Given the description of an element on the screen output the (x, y) to click on. 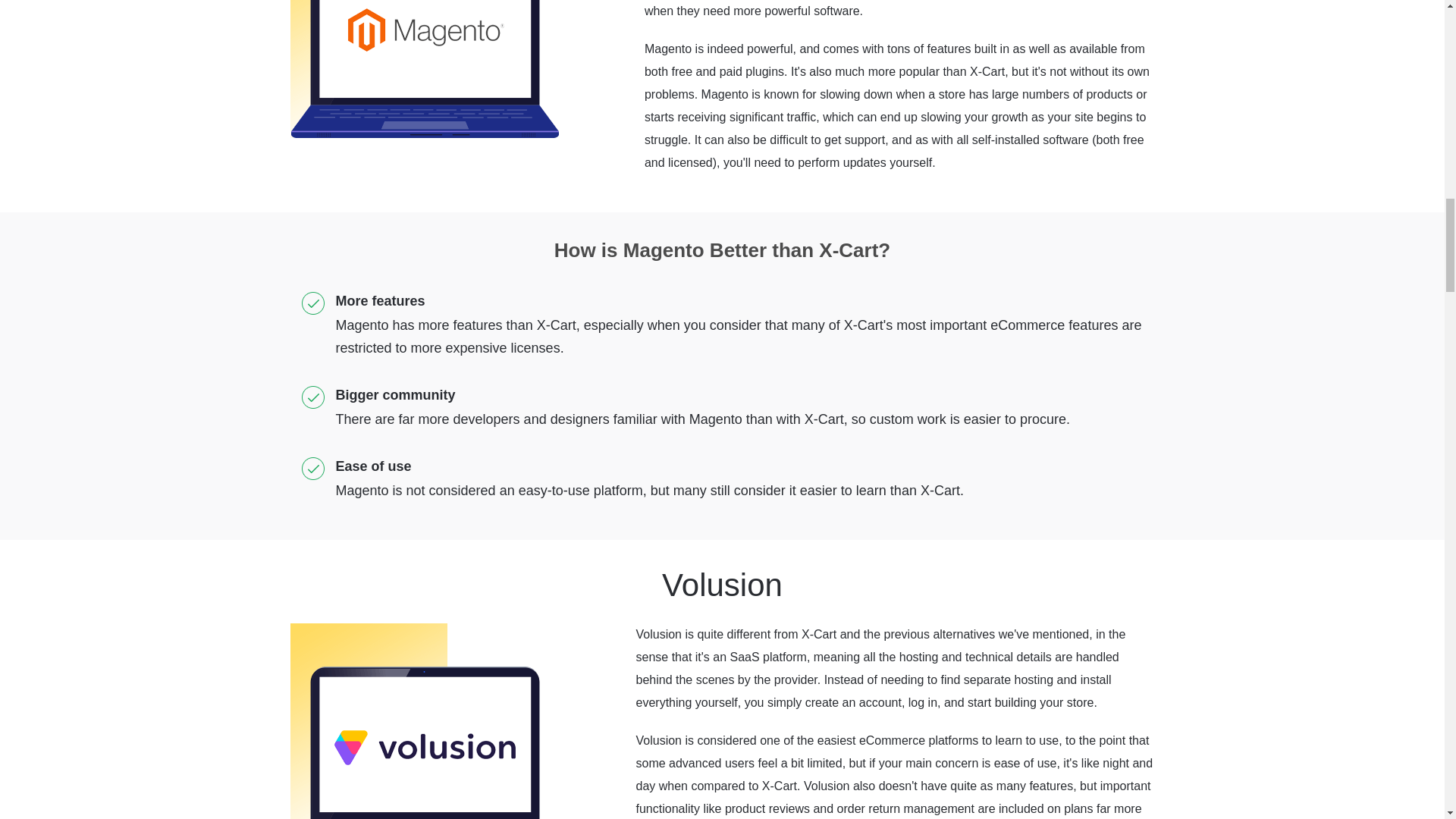
Volusion (423, 721)
Magento (423, 69)
